Given the description of an element on the screen output the (x, y) to click on. 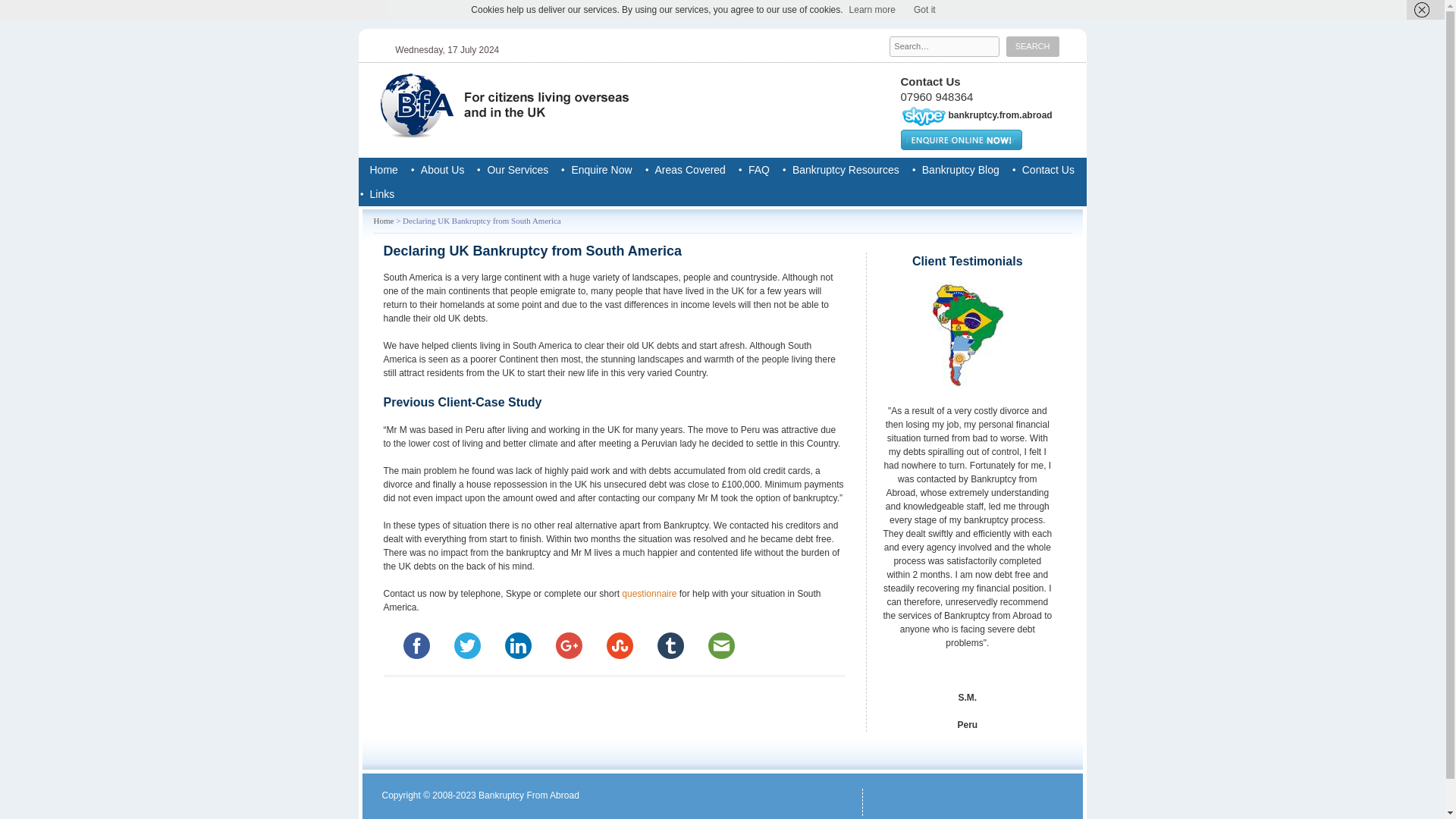
linkedin (517, 645)
tumblr (669, 645)
twitter (466, 645)
Search (1032, 46)
Search for: (943, 46)
Our Services (517, 169)
google (568, 645)
Go to Home. (382, 220)
Search (1032, 46)
Search (1032, 46)
FAQ (758, 169)
Home (383, 169)
Search (1032, 46)
Areas Covered (689, 169)
email (721, 645)
